Given the description of an element on the screen output the (x, y) to click on. 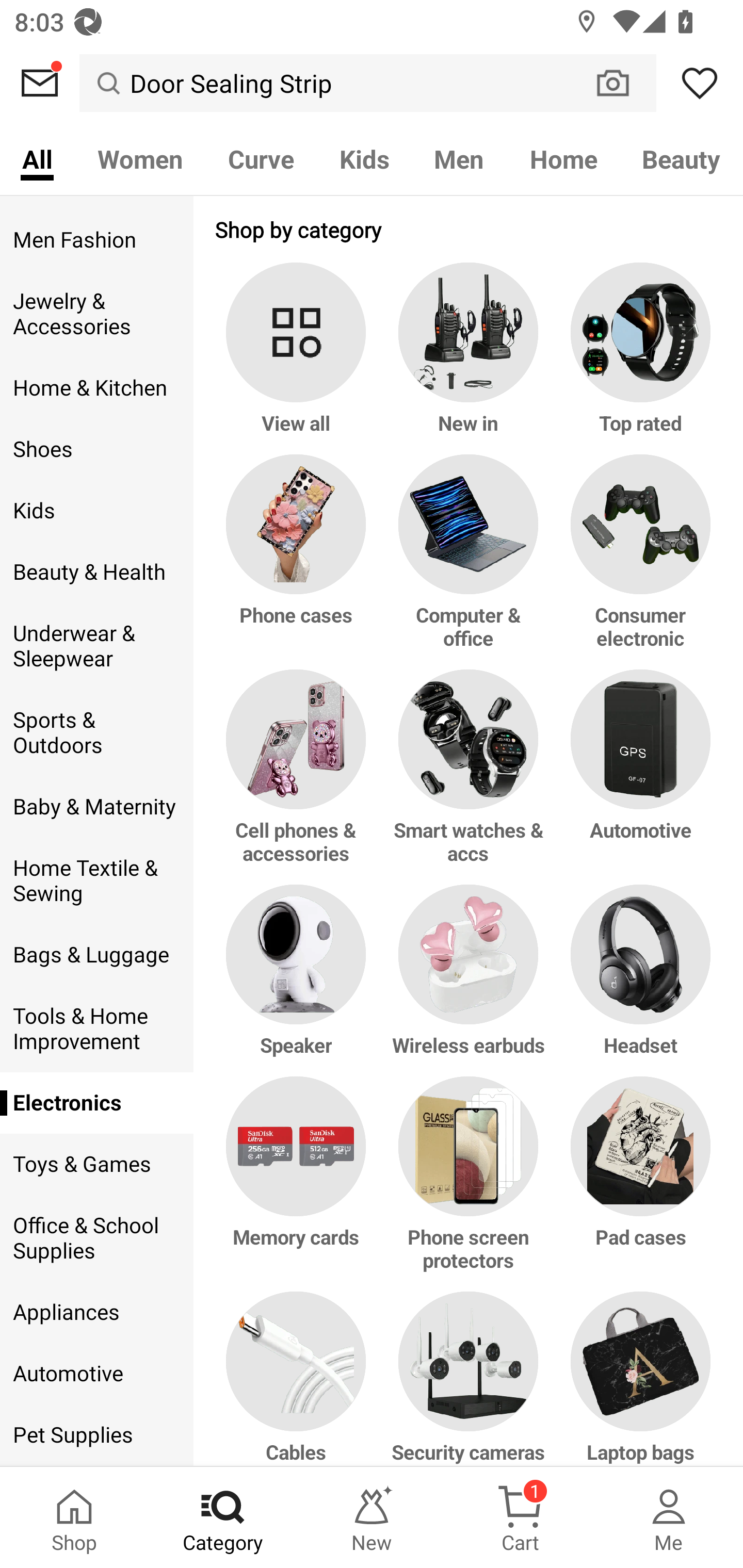
Wishlist (699, 82)
VISUAL SEARCH (623, 82)
All (37, 158)
Women (139, 158)
Curve (260, 158)
Kids (363, 158)
Men (458, 158)
Home (563, 158)
Beauty (681, 158)
Shop by category (468, 228)
Men Fashion (96, 240)
View all (299, 357)
New in (468, 357)
Top rated (636, 357)
Jewelry & Accessories (96, 314)
Home & Kitchen (96, 387)
Shoes (96, 448)
Phone cases (299, 561)
Computer & office (468, 561)
Consumer electronic (636, 561)
Kids (96, 509)
Beauty & Health (96, 571)
Underwear & Sleepwear (96, 646)
Cell phones & accessories (299, 776)
Smart watches & accs (468, 776)
Automotive (636, 776)
Sports & Outdoors (96, 732)
Baby & Maternity (96, 806)
Home Textile & Sewing (96, 880)
Speaker (299, 980)
Wireless earbuds (468, 980)
Headset (636, 980)
Bags & Luggage (96, 954)
Tools & Home Improvement (96, 1029)
Electronics (96, 1102)
Memory cards (299, 1184)
Phone screen protectors (468, 1184)
Pad cases (636, 1184)
Toys & Games (96, 1163)
Office & School Supplies (96, 1237)
Appliances (96, 1312)
Cables (299, 1379)
Security cameras (468, 1379)
Laptop bags (636, 1379)
Automotive (96, 1373)
Pet Supplies (96, 1435)
Shop (74, 1517)
New (371, 1517)
Cart 1 Cart (519, 1517)
Me (668, 1517)
